Given the description of an element on the screen output the (x, y) to click on. 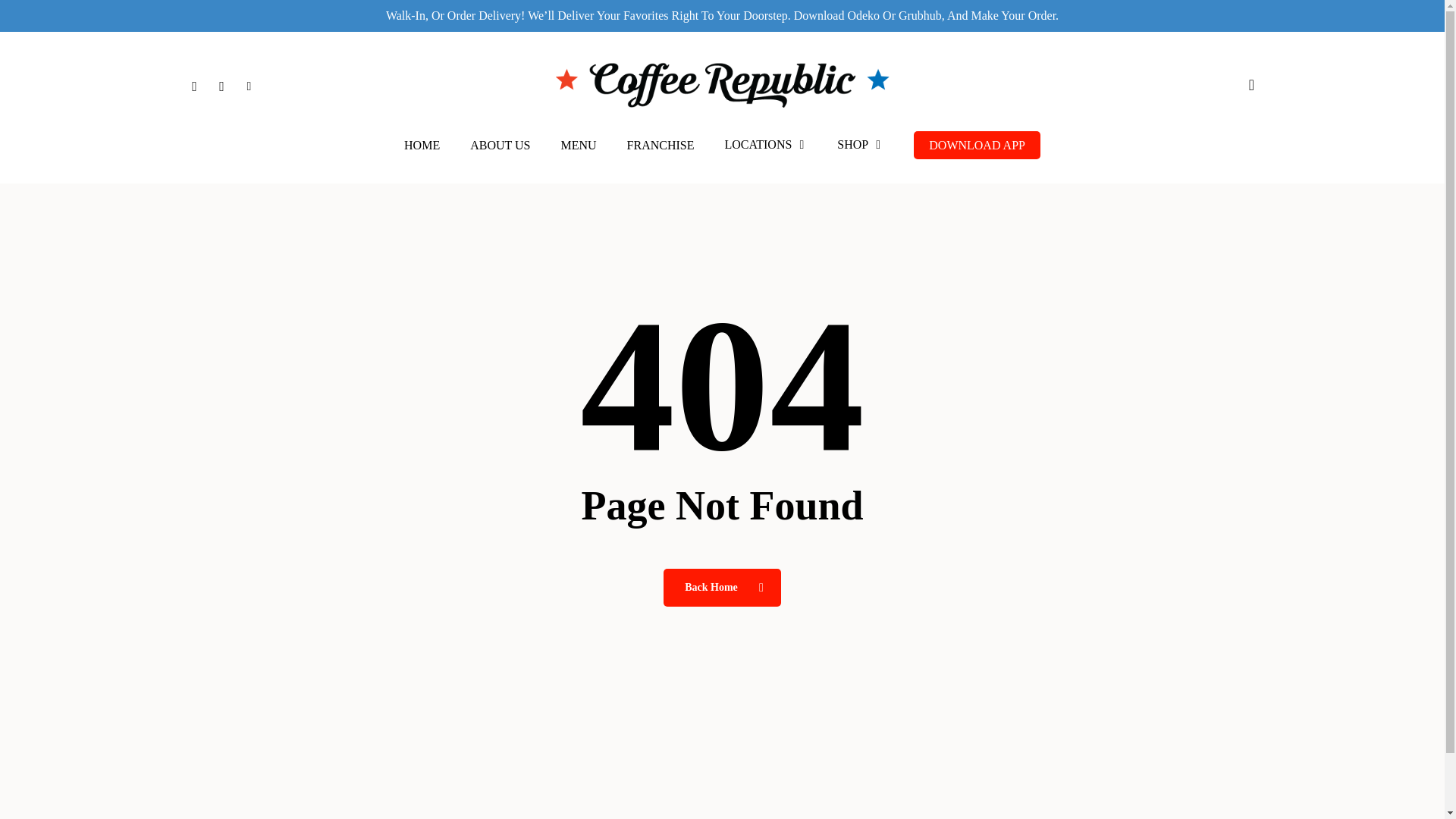
Facebook (194, 84)
FRANCHISE (660, 145)
ABOUT US (499, 145)
SHOP (860, 144)
MENU (577, 145)
HOME (421, 145)
LOCATIONS (765, 144)
search (1250, 84)
DOWNLOAD APP (977, 145)
Instagram (221, 84)
